Given the description of an element on the screen output the (x, y) to click on. 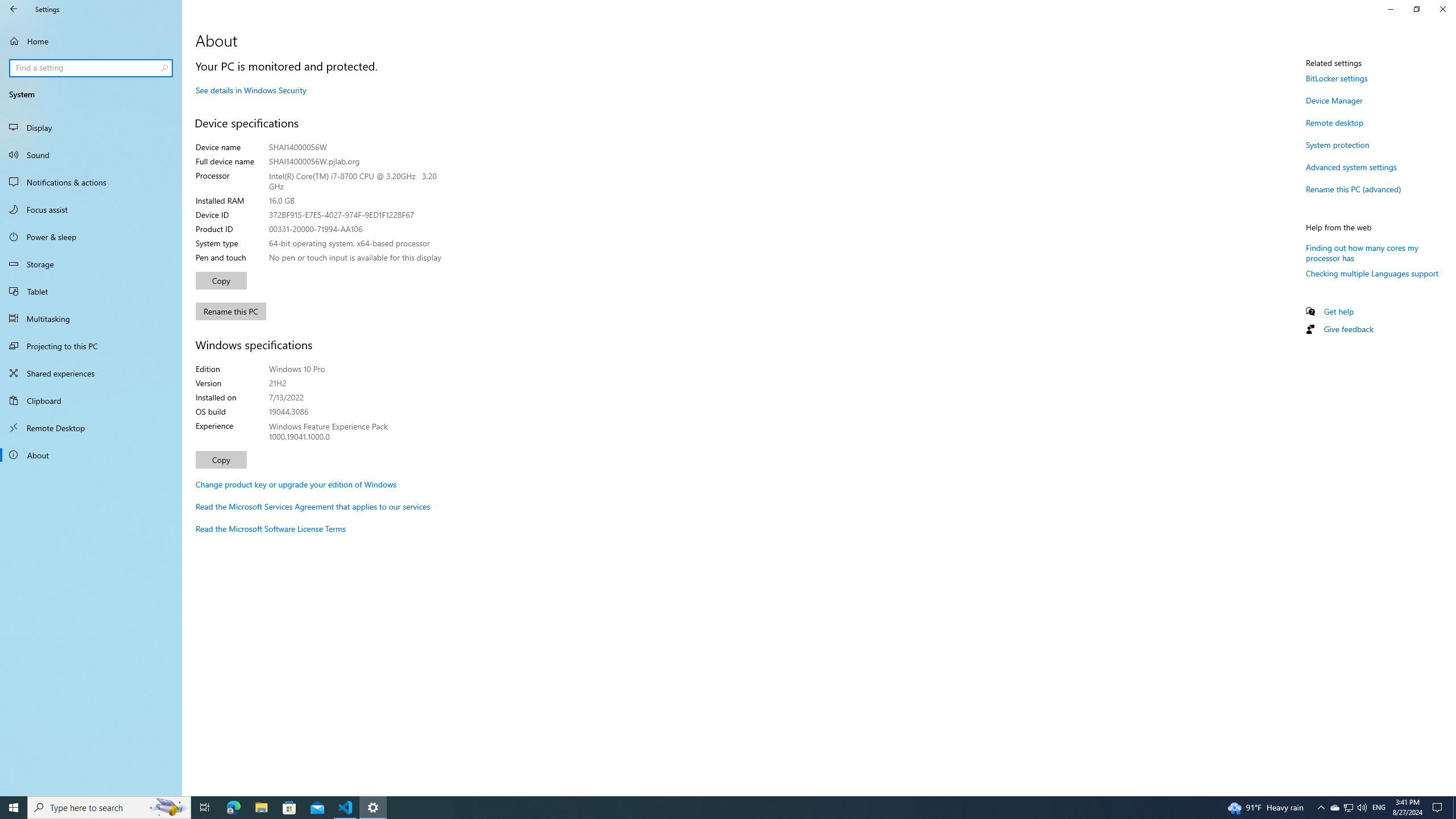
About (91, 454)
Tablet (91, 290)
BitLocker settings (1336, 77)
Clipboard (91, 400)
